Given the description of an element on the screen output the (x, y) to click on. 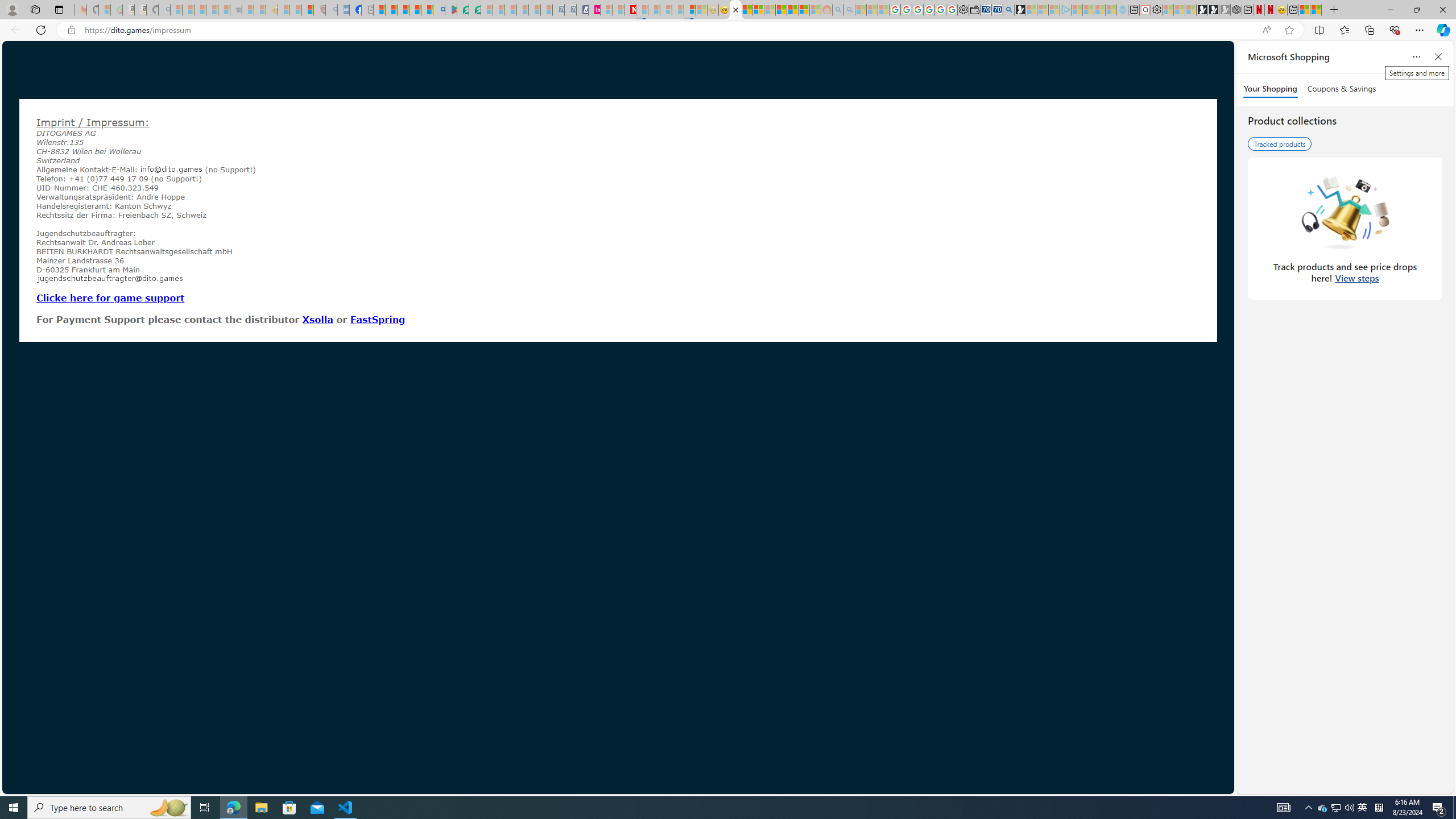
Microsoft-Report a Concern to Bing - Sleeping (104, 9)
Wallet (974, 9)
Trusted Community Engagement and Contributions | Guidelines (641, 9)
Utah sues federal government - Search - Sleeping (849, 9)
google - Search (438, 9)
Wildlife - MSN (1304, 9)
